Given the description of an element on the screen output the (x, y) to click on. 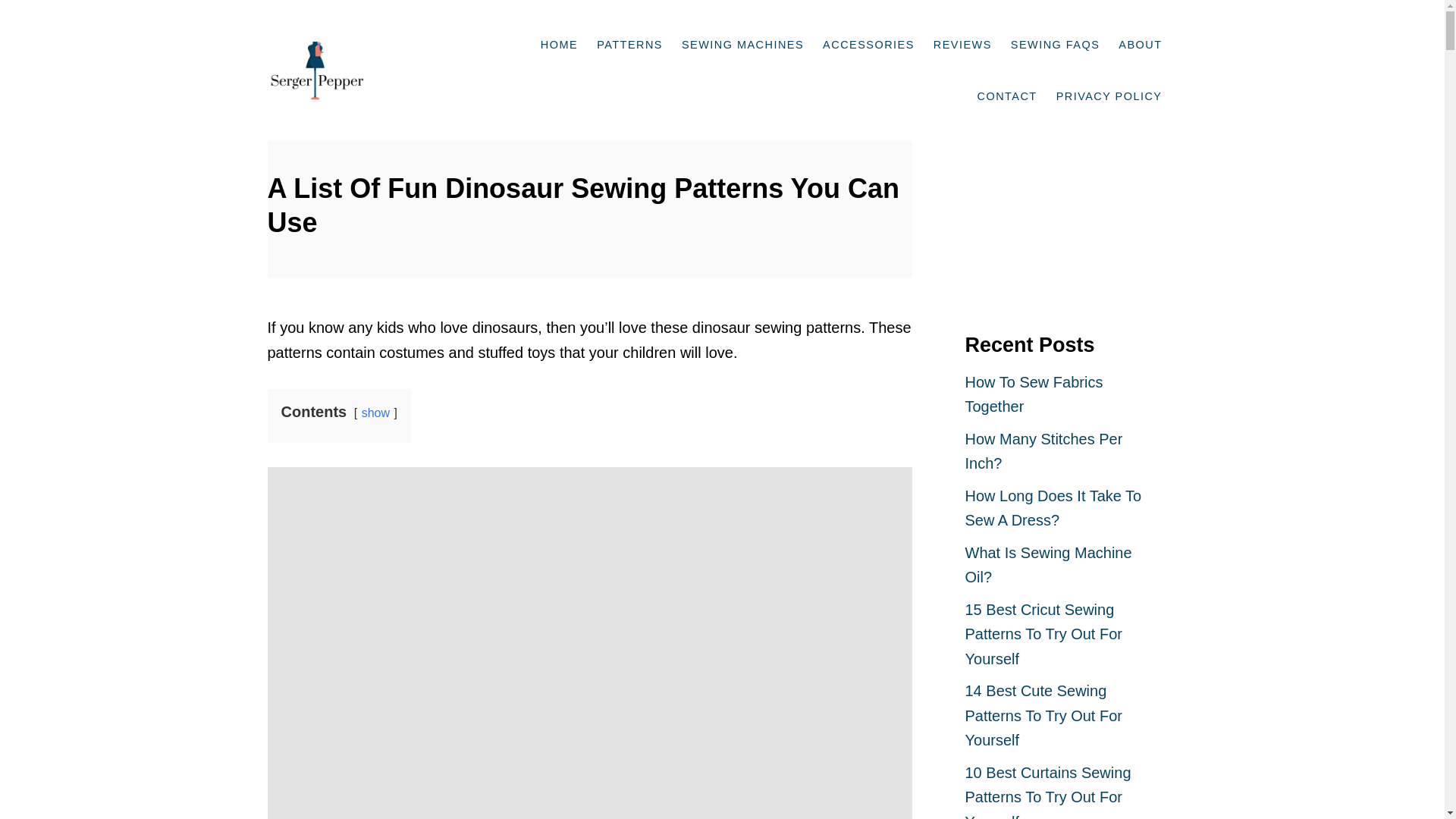
show (375, 412)
ACCESSORIES (868, 25)
ABOUT (1140, 25)
SEWING FAQS (1055, 25)
PRIVACY POLICY (1109, 77)
PATTERNS (629, 25)
REVIEWS (962, 25)
CONTACT (1007, 77)
Serger Pepper (344, 51)
SEWING MACHINES (743, 25)
